Given the description of an element on the screen output the (x, y) to click on. 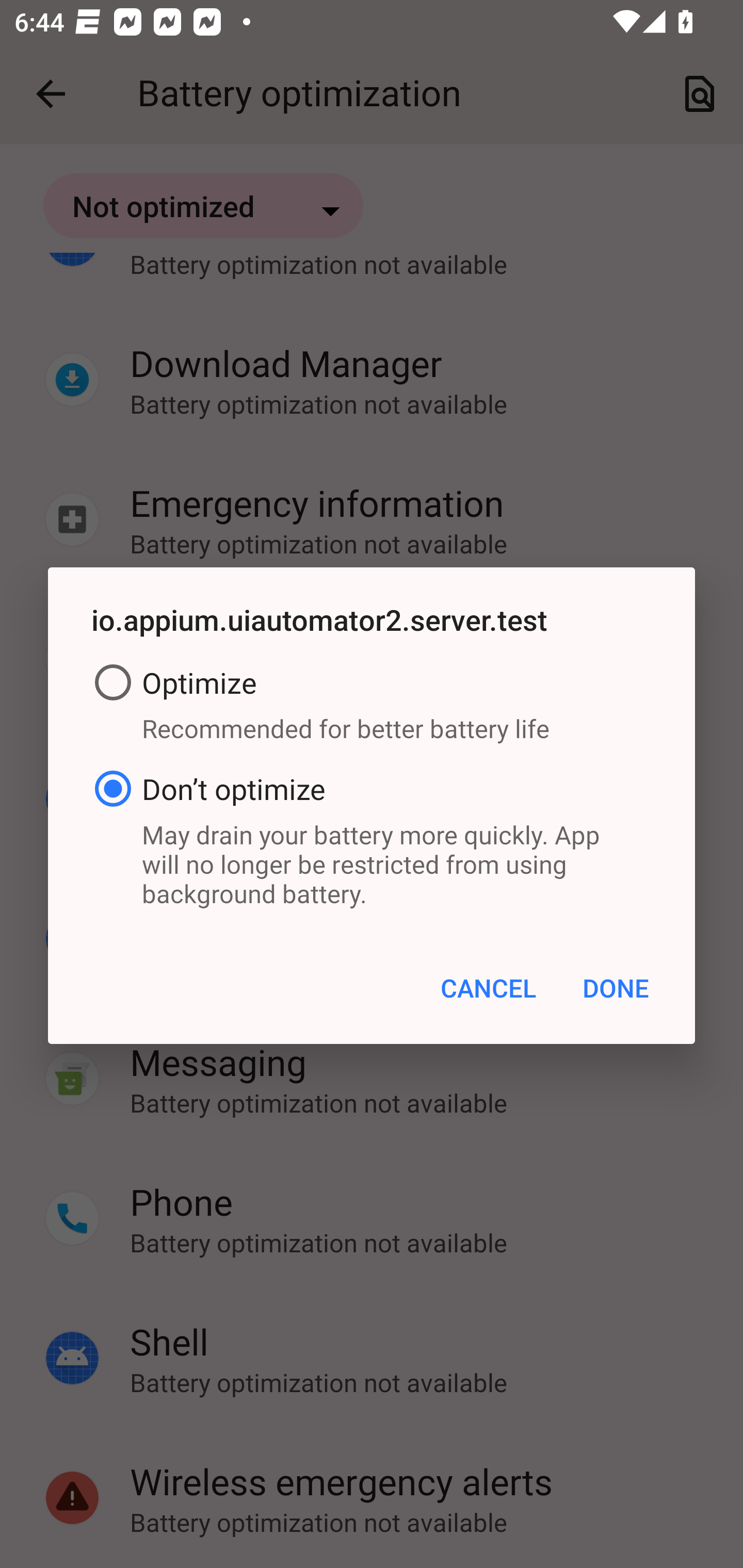
Optimize Recommended for better battery life (371, 706)
CANCEL (488, 987)
DONE (615, 987)
